Given the description of an element on the screen output the (x, y) to click on. 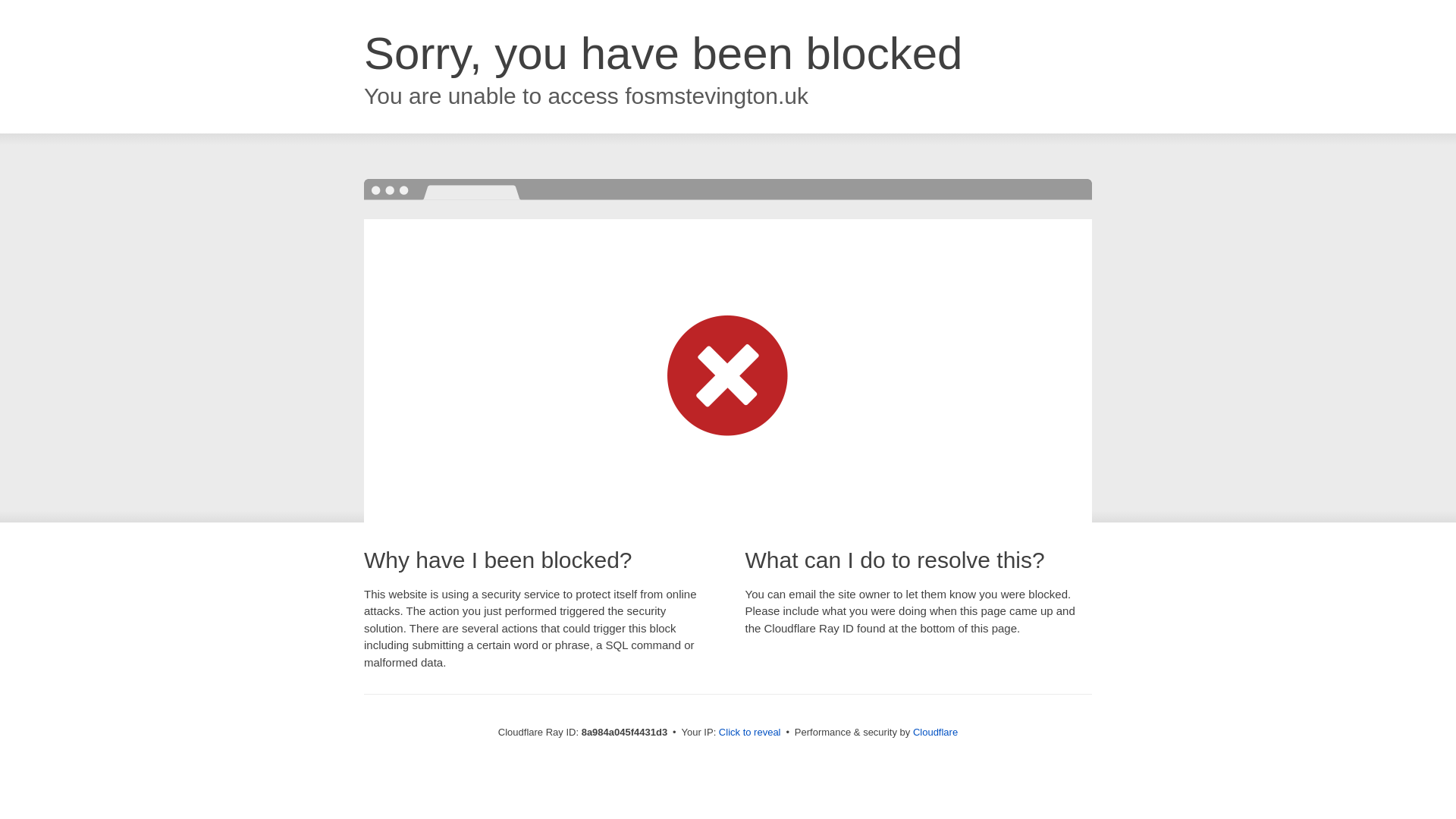
Click to reveal (749, 732)
Cloudflare (935, 731)
